Given the description of an element on the screen output the (x, y) to click on. 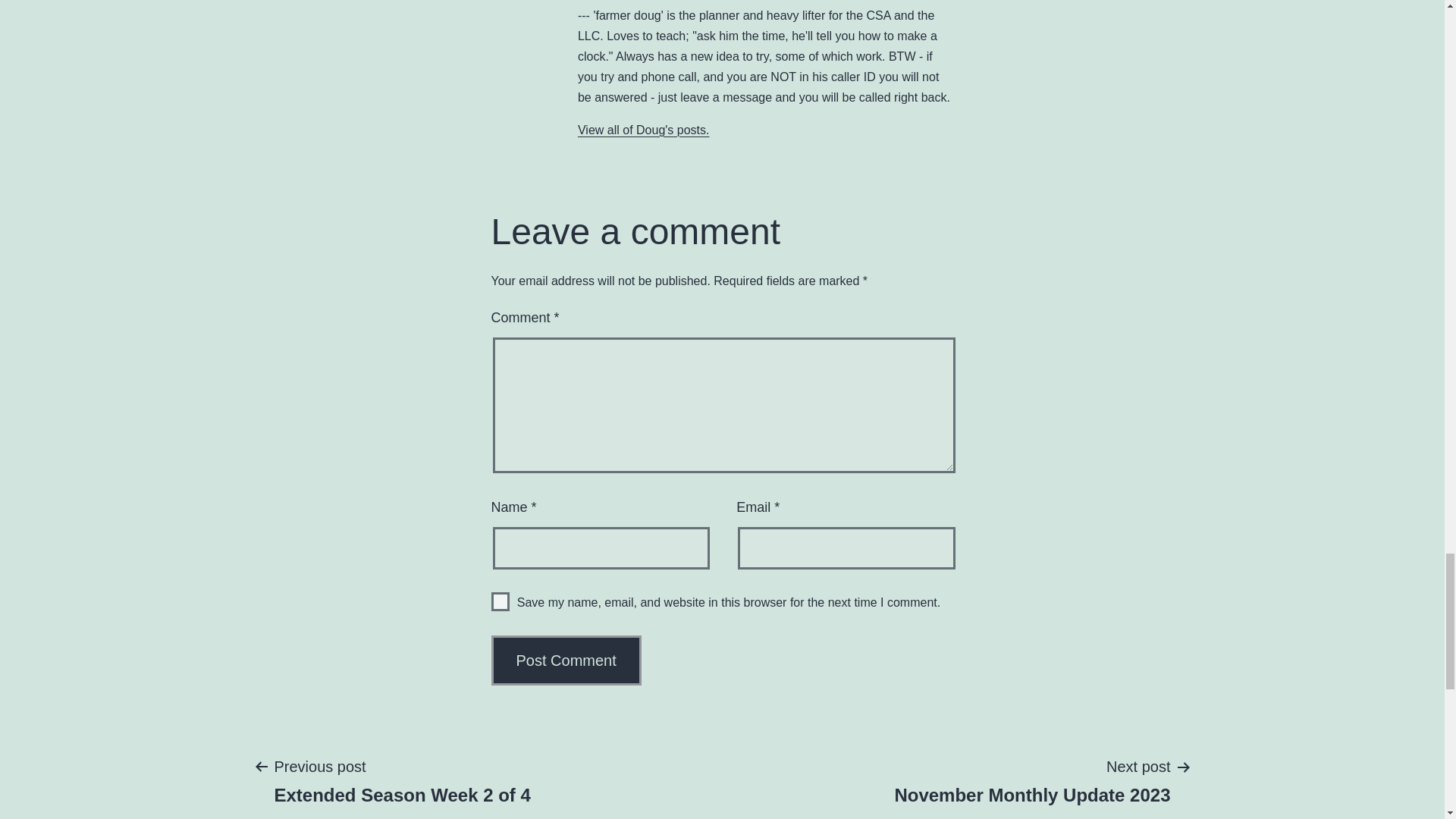
Post Comment (567, 660)
View all of Doug's posts. (644, 129)
yes (1032, 779)
Post Comment (500, 601)
